Given the description of an element on the screen output the (x, y) to click on. 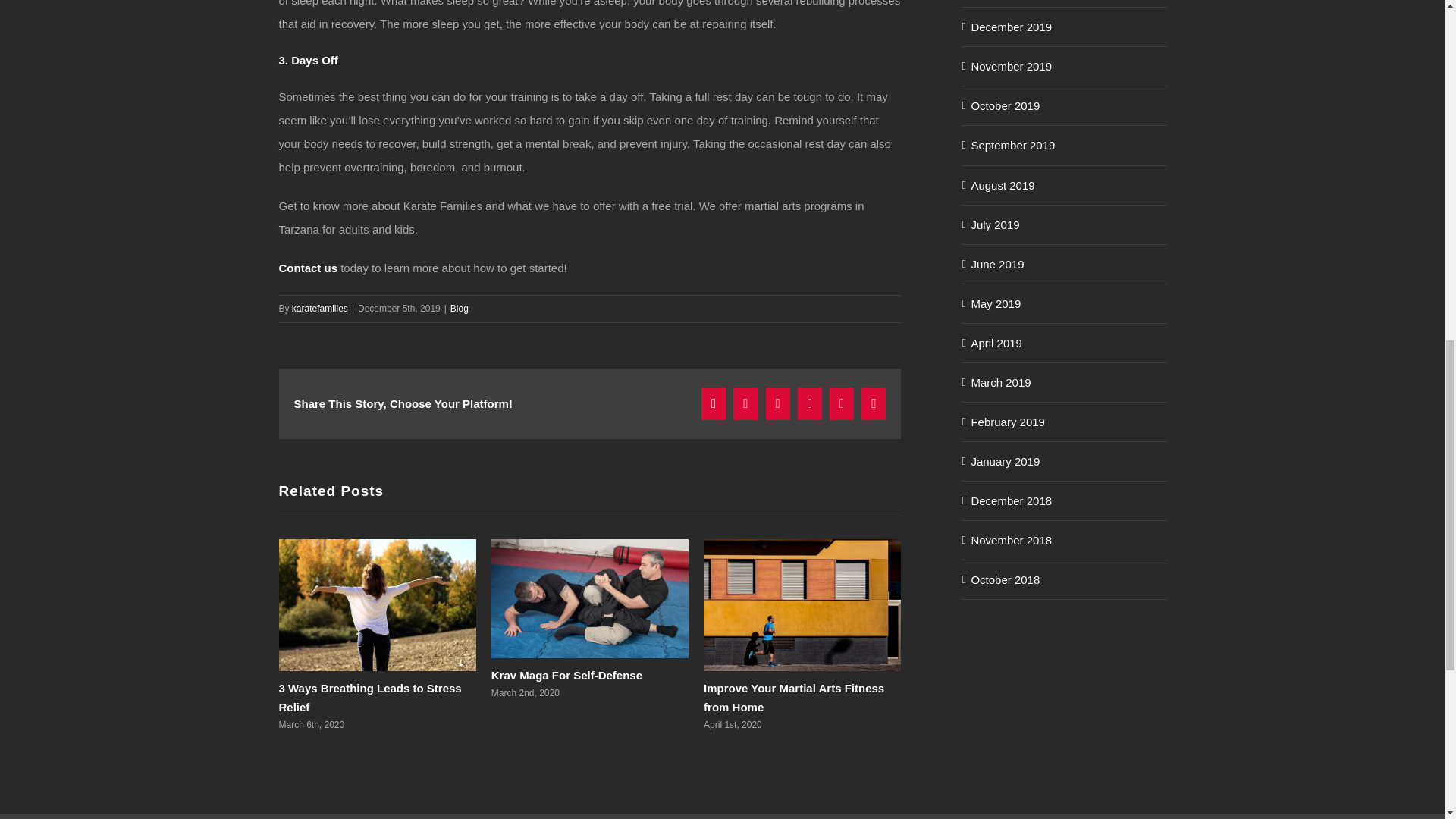
Blog (458, 308)
3 Ways Breathing Leads to Stress Relief (370, 697)
Contact us (308, 267)
3 Ways Breathing Leads to Stress Relief (370, 697)
karatefamilies (319, 308)
Posts by karatefamilies (319, 308)
Improve Your Martial Arts Fitness from Home (793, 697)
Krav Maga For Self-Defense (567, 675)
